Given the description of an element on the screen output the (x, y) to click on. 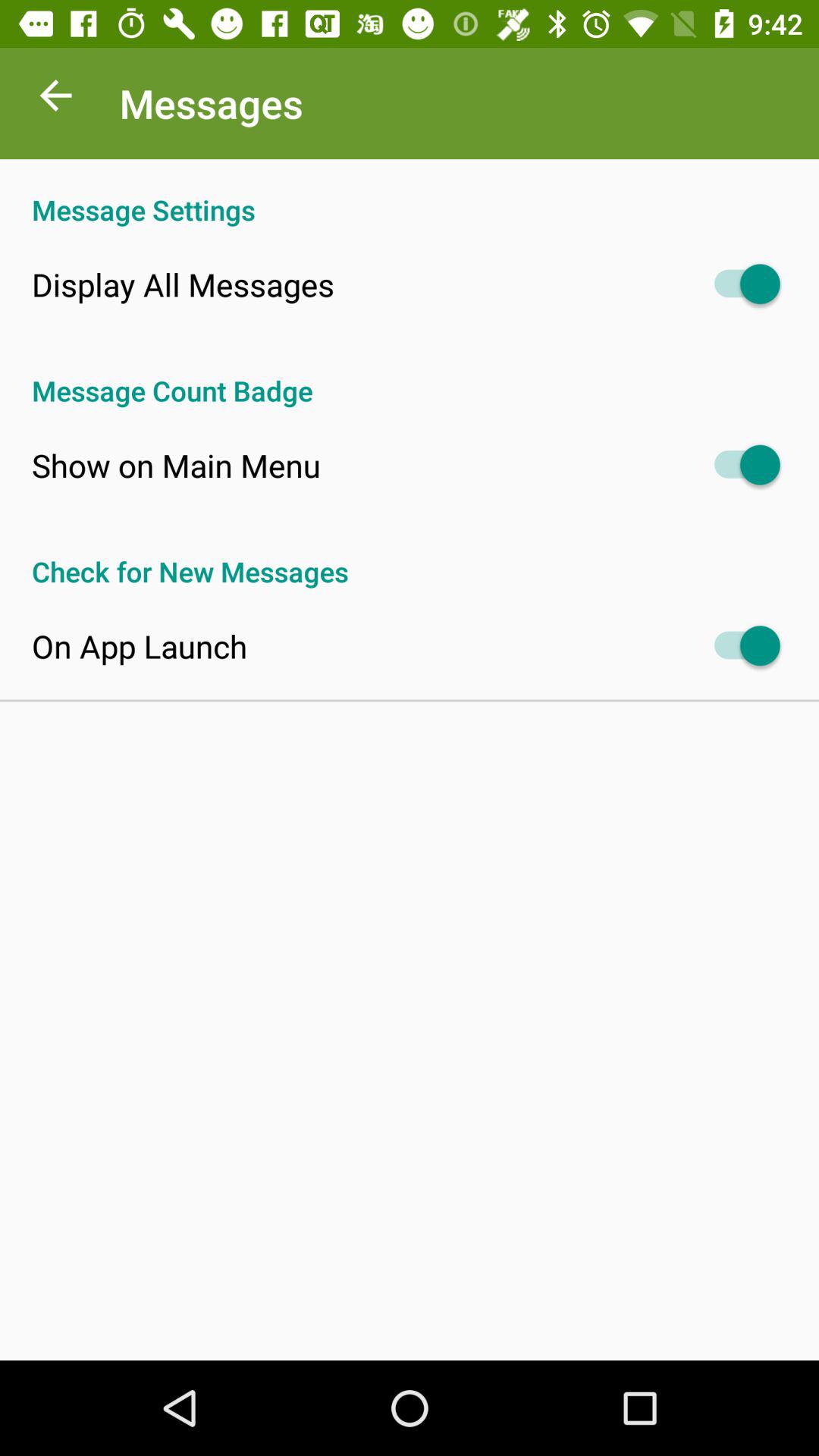
tap the message count badge app (409, 374)
